Given the description of an element on the screen output the (x, y) to click on. 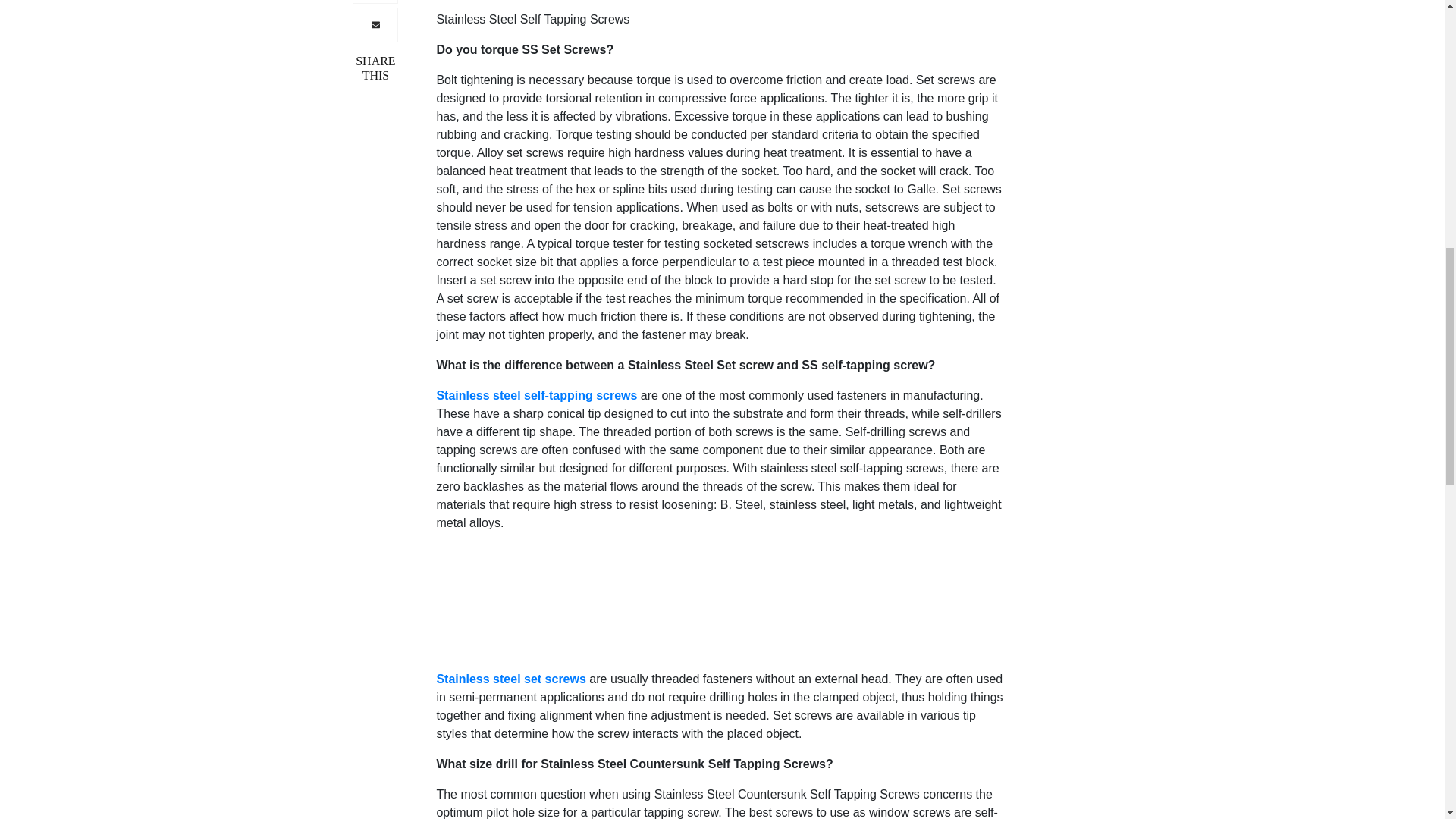
Stainless steel self-tapping screws  (537, 310)
Stainless steel set screws  (512, 594)
